Given the description of an element on the screen output the (x, y) to click on. 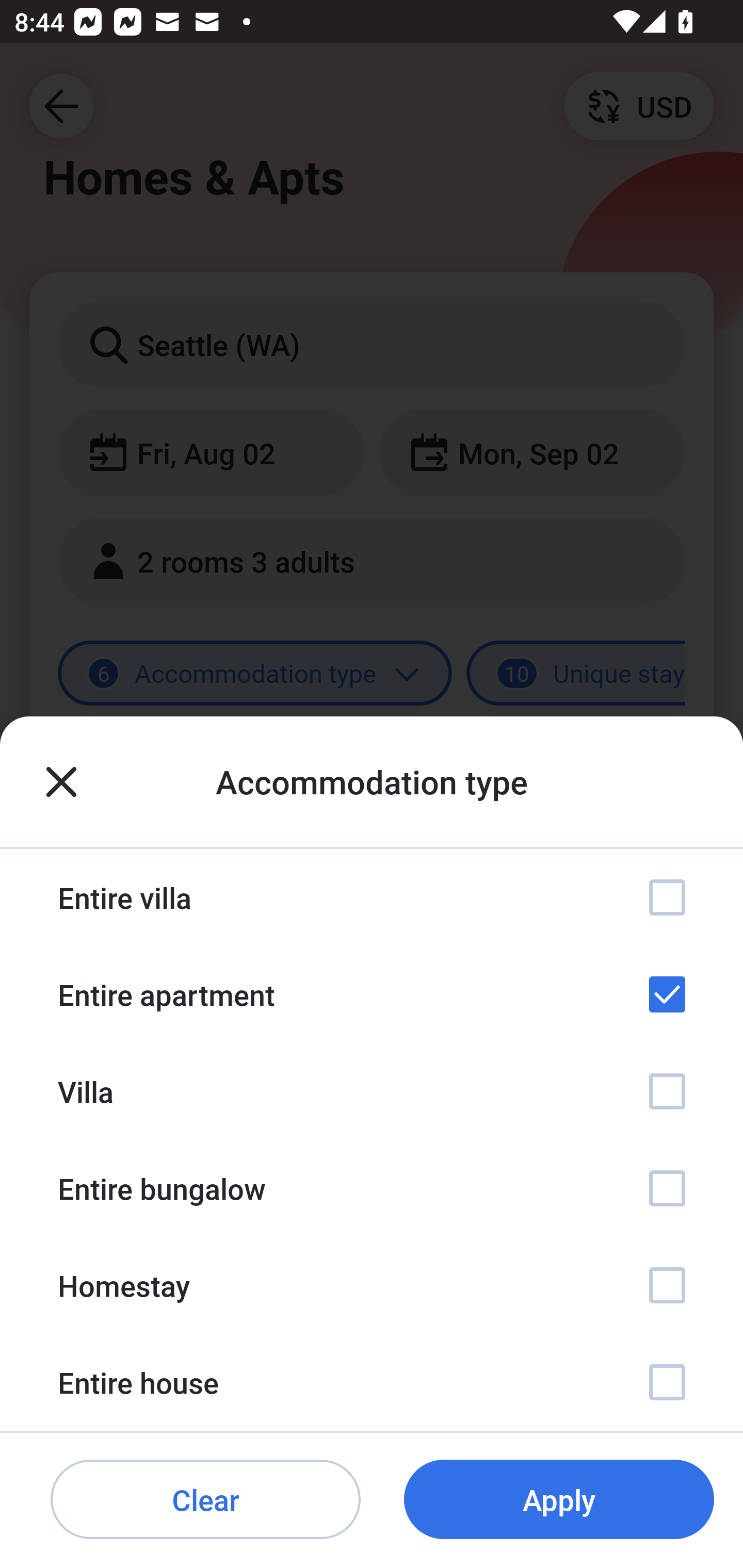
Entire villa (371, 897)
Entire apartment (371, 994)
Villa (371, 1091)
Entire bungalow (371, 1188)
Homestay (371, 1284)
Entire house (371, 1382)
Clear (205, 1499)
Apply (559, 1499)
